Given the description of an element on the screen output the (x, y) to click on. 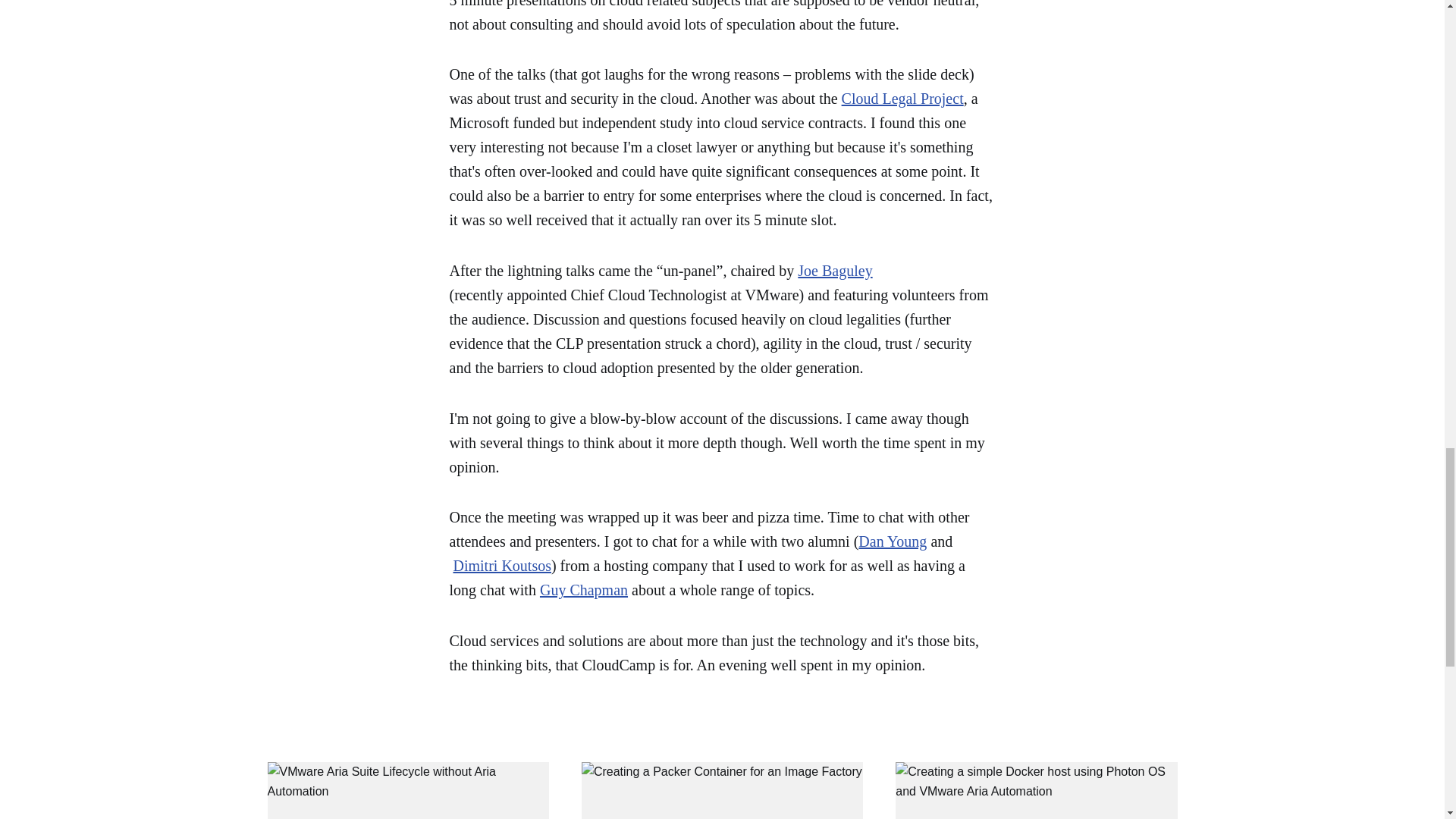
Dan Young (892, 541)
Guy Chapman (583, 589)
Dimitri Koutsos (501, 565)
Joe Baguley (834, 270)
Cloud Legal Project (902, 98)
